Given the description of an element on the screen output the (x, y) to click on. 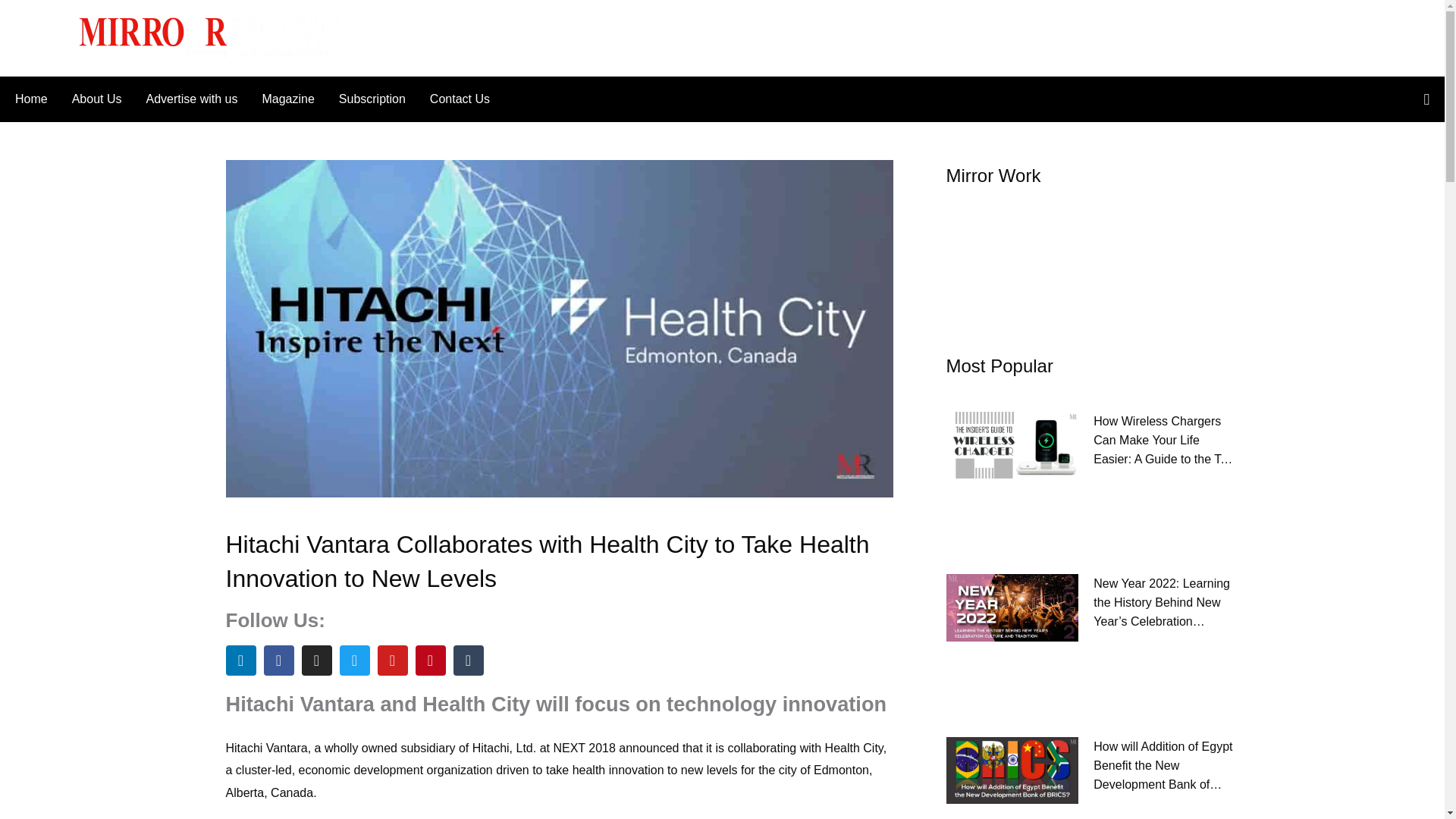
Tumblr (467, 660)
About Us (96, 99)
Facebook (278, 660)
Linkedin (240, 660)
Twitter (354, 660)
Main Menu (43, 37)
Instagram (316, 660)
Youtube (392, 660)
Contact Us (453, 99)
